Given the description of an element on the screen output the (x, y) to click on. 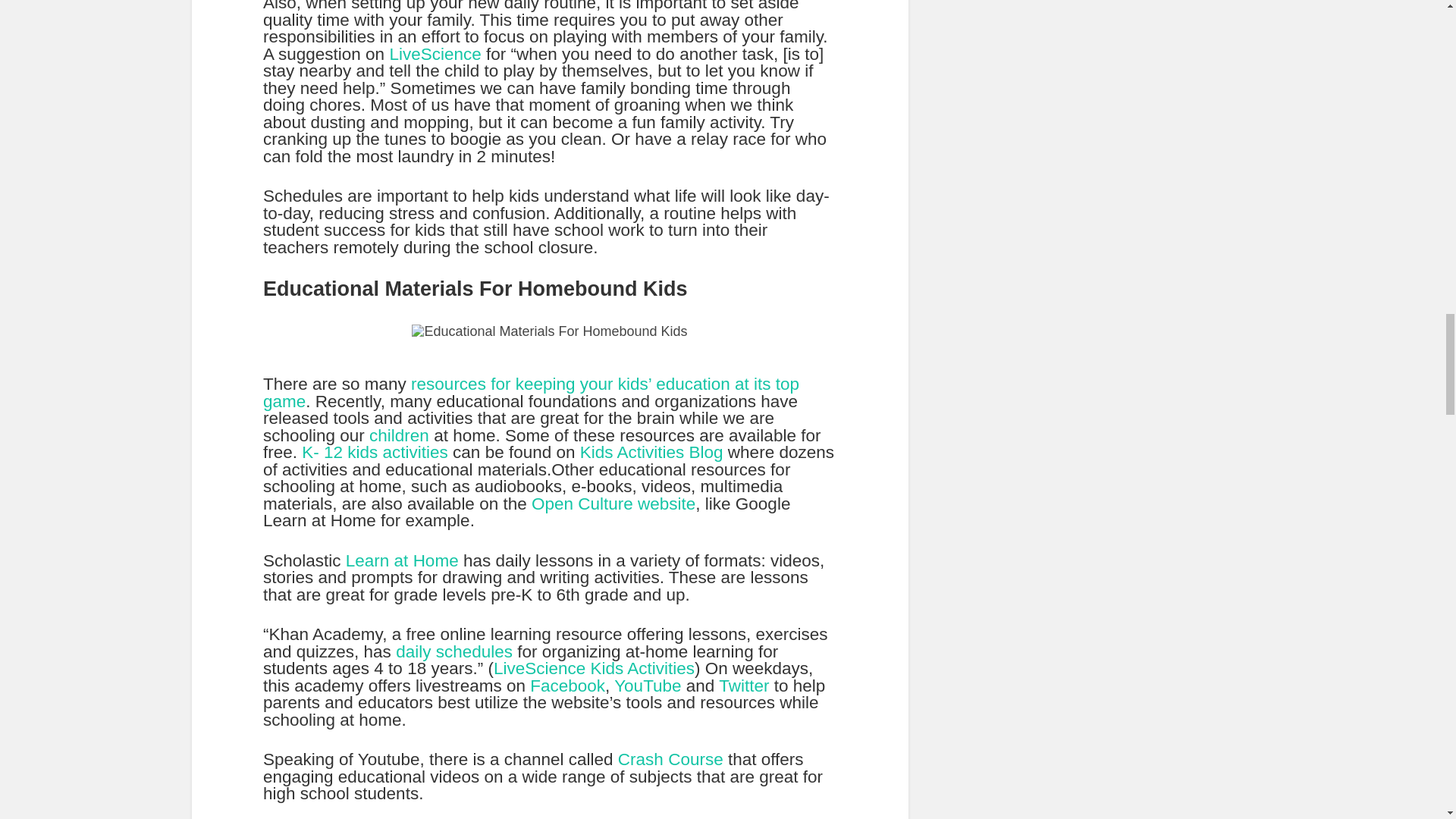
LiveScience (434, 54)
Facebook (567, 685)
Kids Activities Blog (651, 452)
Learn at Home (402, 560)
children (401, 435)
Twitter (743, 685)
daily schedules (454, 651)
LiveScience Kids Activities (593, 668)
K- 12 kids activities (374, 452)
YouTube (647, 685)
